Given the description of an element on the screen output the (x, y) to click on. 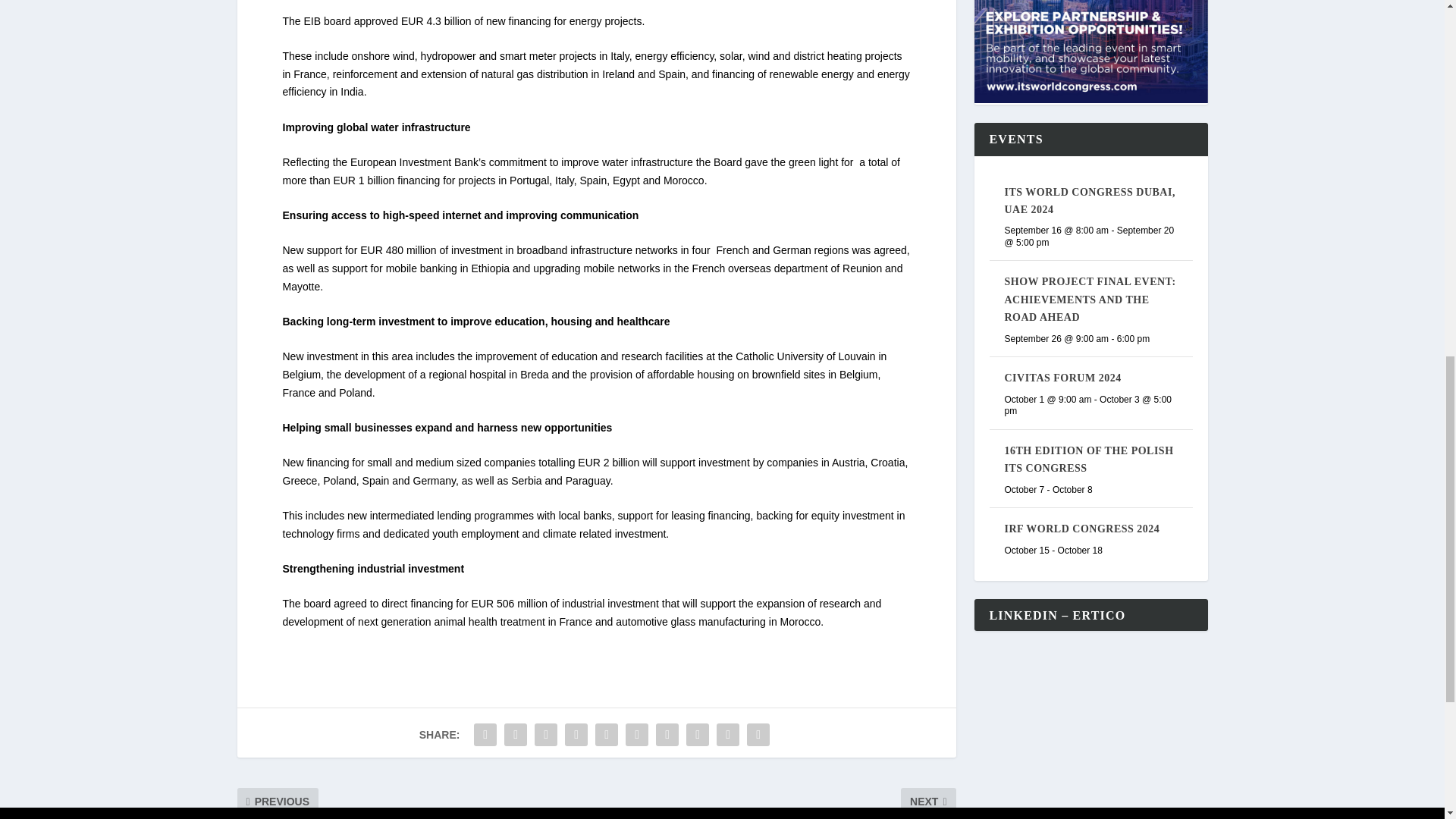
16TH EDITION OF THE POLISH ITS CONGRESS (1088, 459)
IRF WORLD CONGRESS 2024 (1081, 528)
CIVITAS FORUM 2024 (1062, 378)
ITS WORLD CONGRESS DUBAI, UAE 2024 (1089, 200)
SHOW PROJECT FINAL EVENT: ACHIEVEMENTS AND THE ROAD AHEAD (1089, 299)
